Given the description of an element on the screen output the (x, y) to click on. 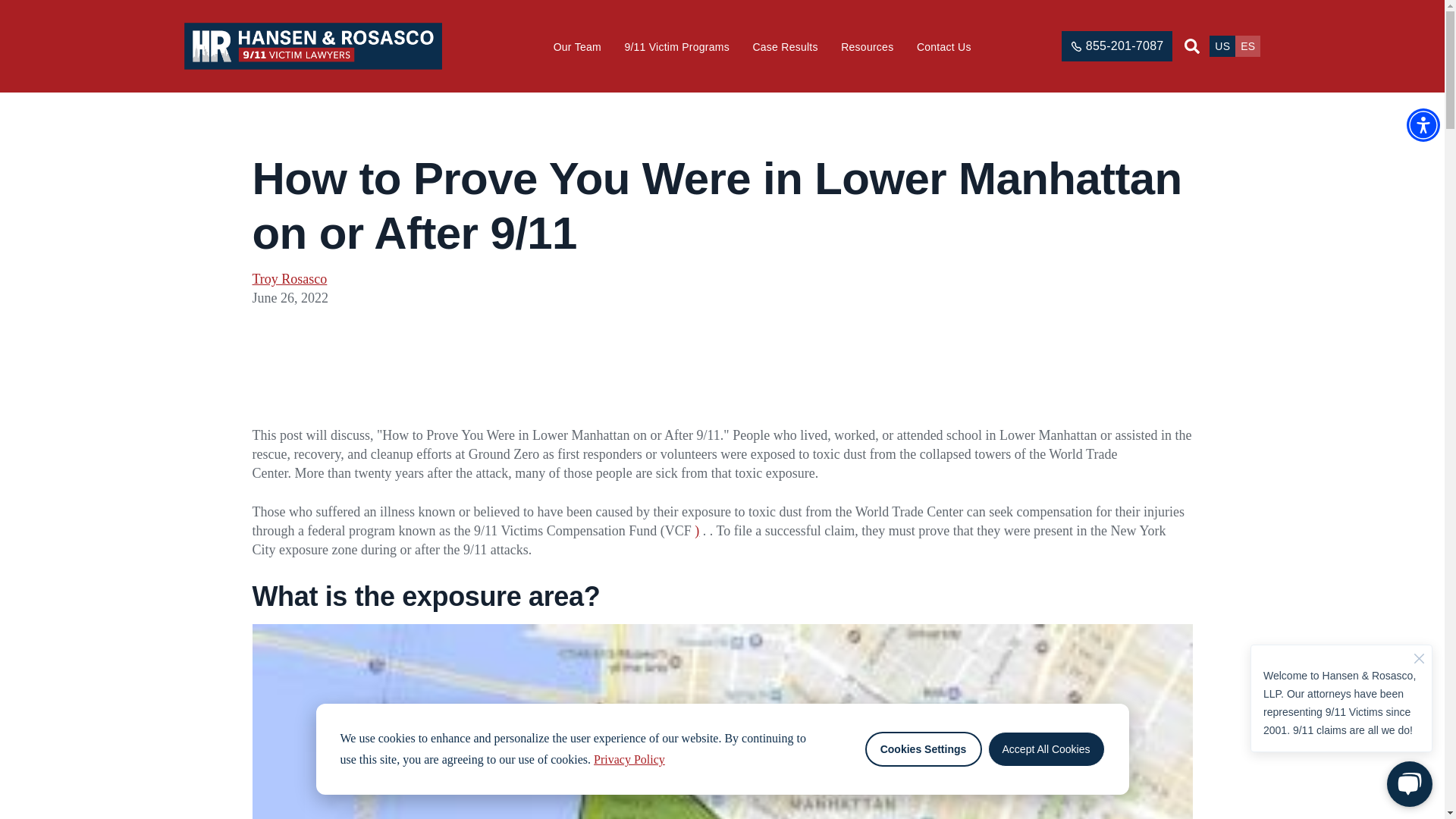
US (1221, 46)
ES (1247, 46)
Logo (313, 45)
Resources (867, 46)
 Privacy Policy (630, 759)
Accessibility Menu (1422, 124)
Contact Us (944, 46)
Case Results (784, 46)
Our Team (577, 46)
855-201-7087 (1117, 46)
